Given the description of an element on the screen output the (x, y) to click on. 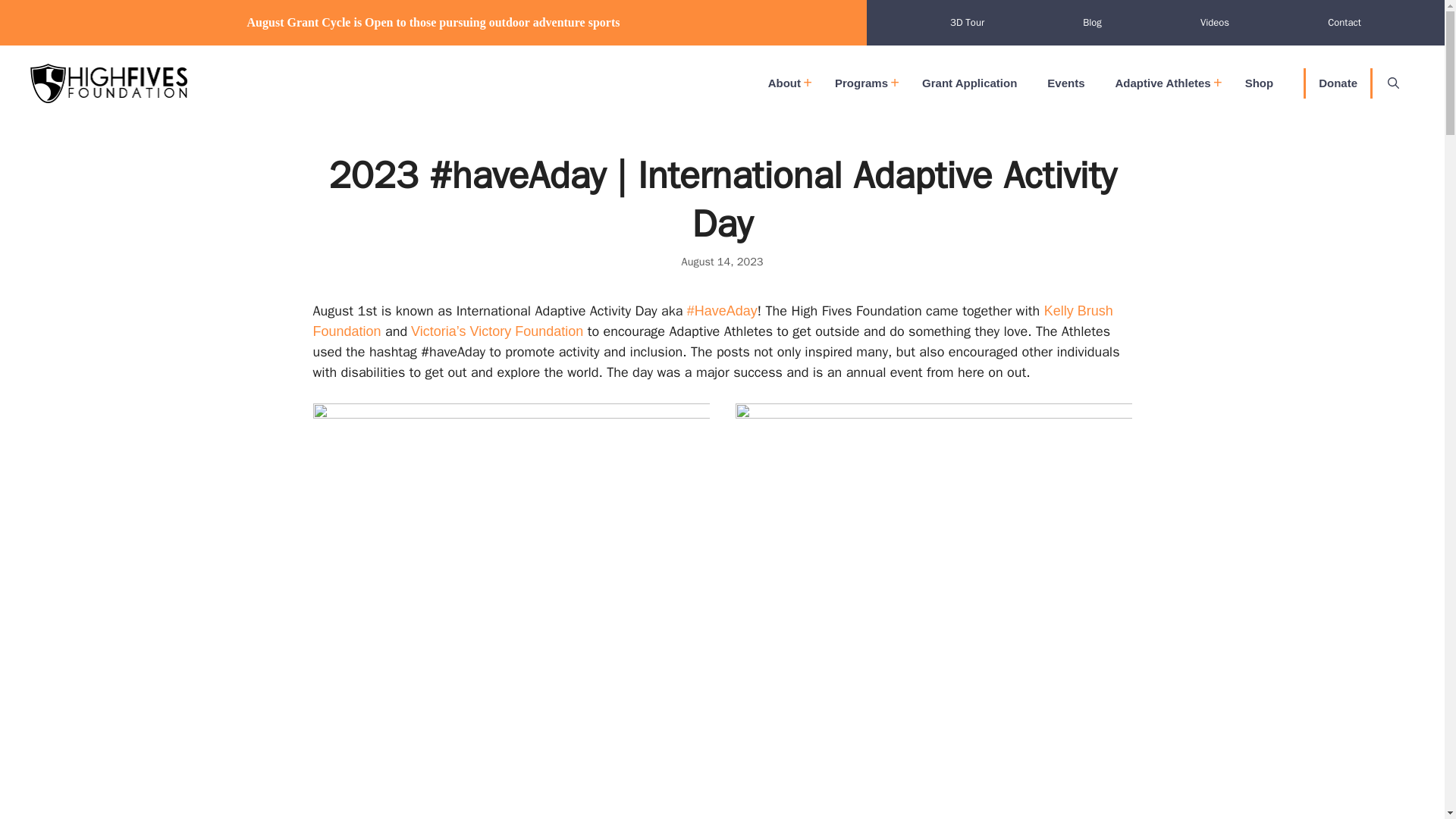
Shop (1259, 83)
Donate (1338, 83)
Contact (1344, 22)
Blog (1091, 22)
Grant Application (969, 83)
3D Tour (966, 22)
Videos (1214, 22)
Programs (863, 83)
About (785, 83)
